Given the description of an element on the screen output the (x, y) to click on. 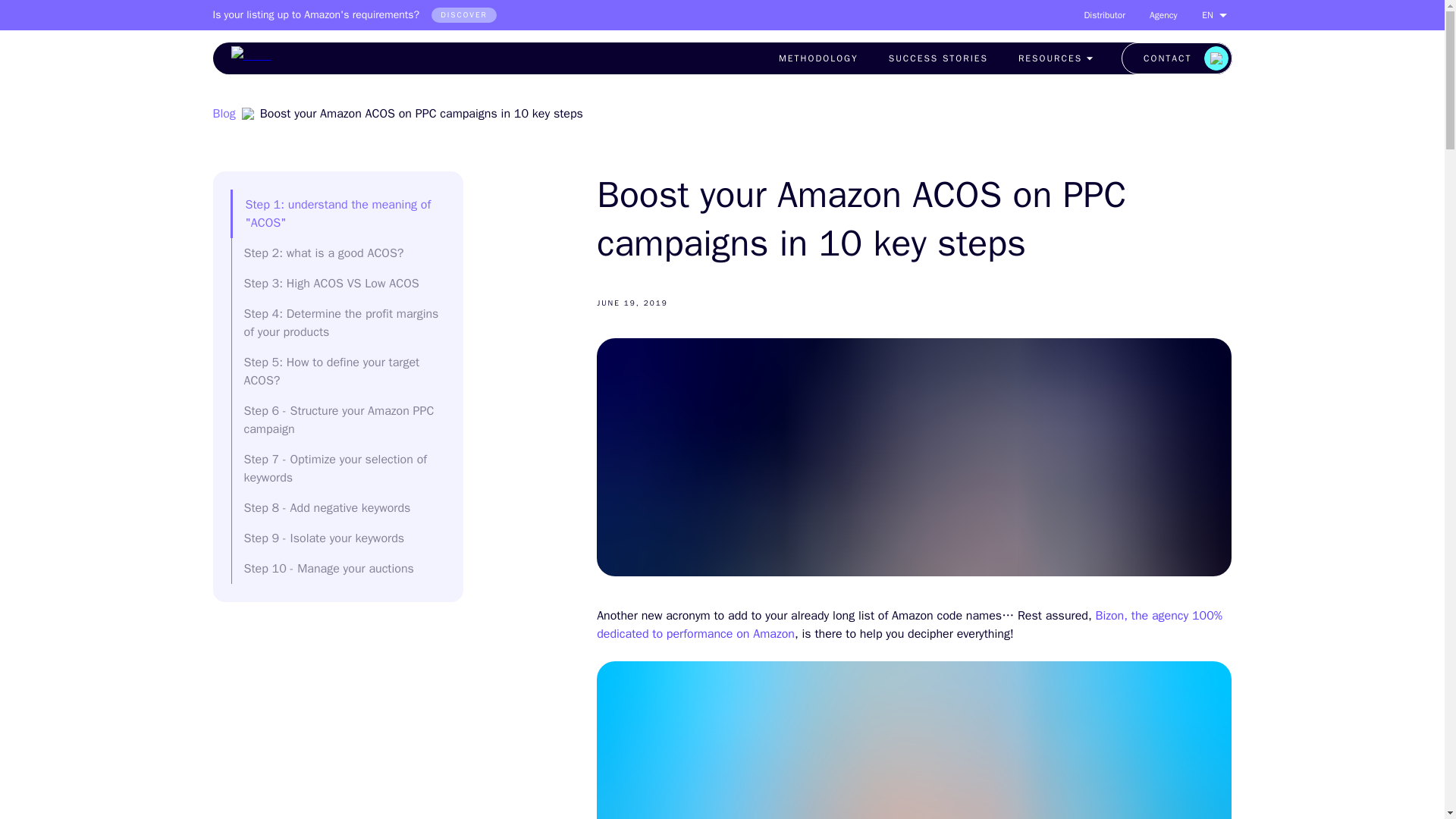
Blog (223, 113)
Step 10 - Manage your auctions (328, 568)
Agency (1162, 14)
EN (1213, 14)
Step 5: How to define your target ACOS? (332, 371)
SUCCESS STORIES (938, 57)
Step 9 - Isolate your keywords (324, 538)
Step 1: understand the meaning of "ACOS" (338, 213)
CONTACT (1176, 58)
Step 4: Determine the profit margins of your products (341, 322)
